Given the description of an element on the screen output the (x, y) to click on. 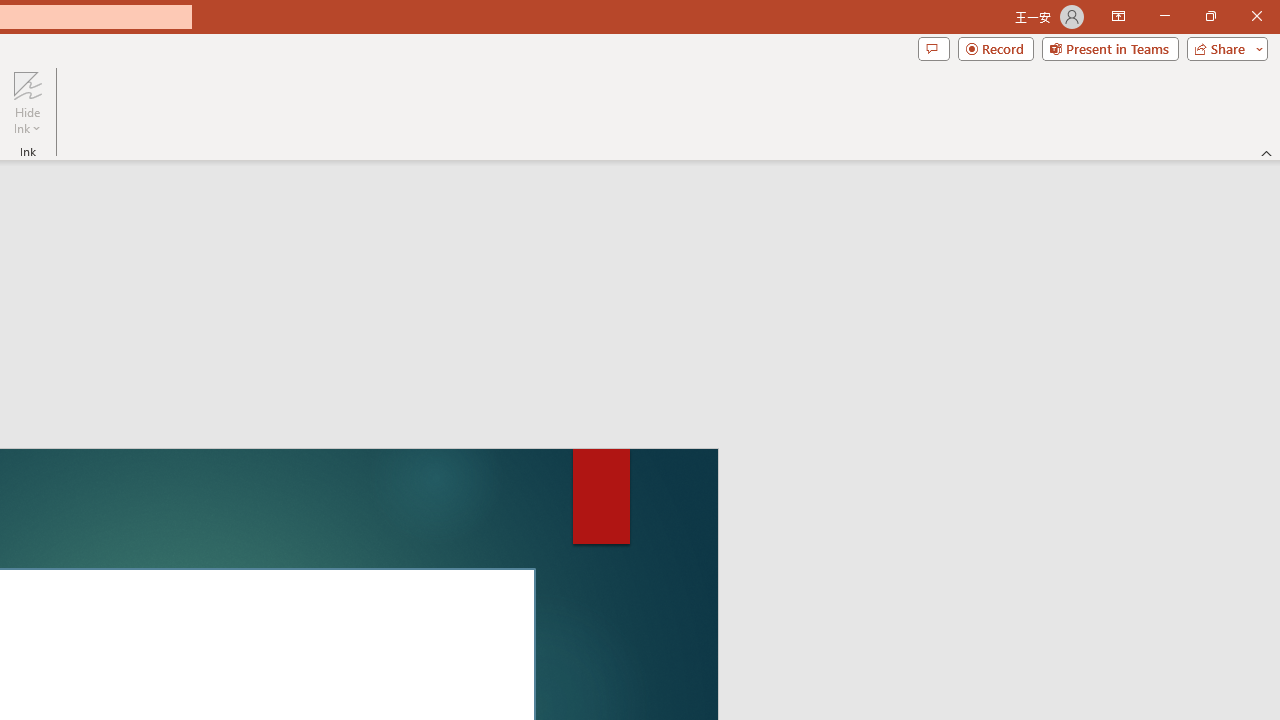
Present in Teams (1109, 48)
Close (1256, 16)
Restore Down (1210, 16)
Collapse the Ribbon (1267, 152)
Hide Ink (27, 102)
More Options (27, 121)
Share (1223, 48)
Minimize (1164, 16)
Comments (933, 48)
Hide Ink (27, 84)
Ribbon Display Options (1118, 16)
